Given the description of an element on the screen output the (x, y) to click on. 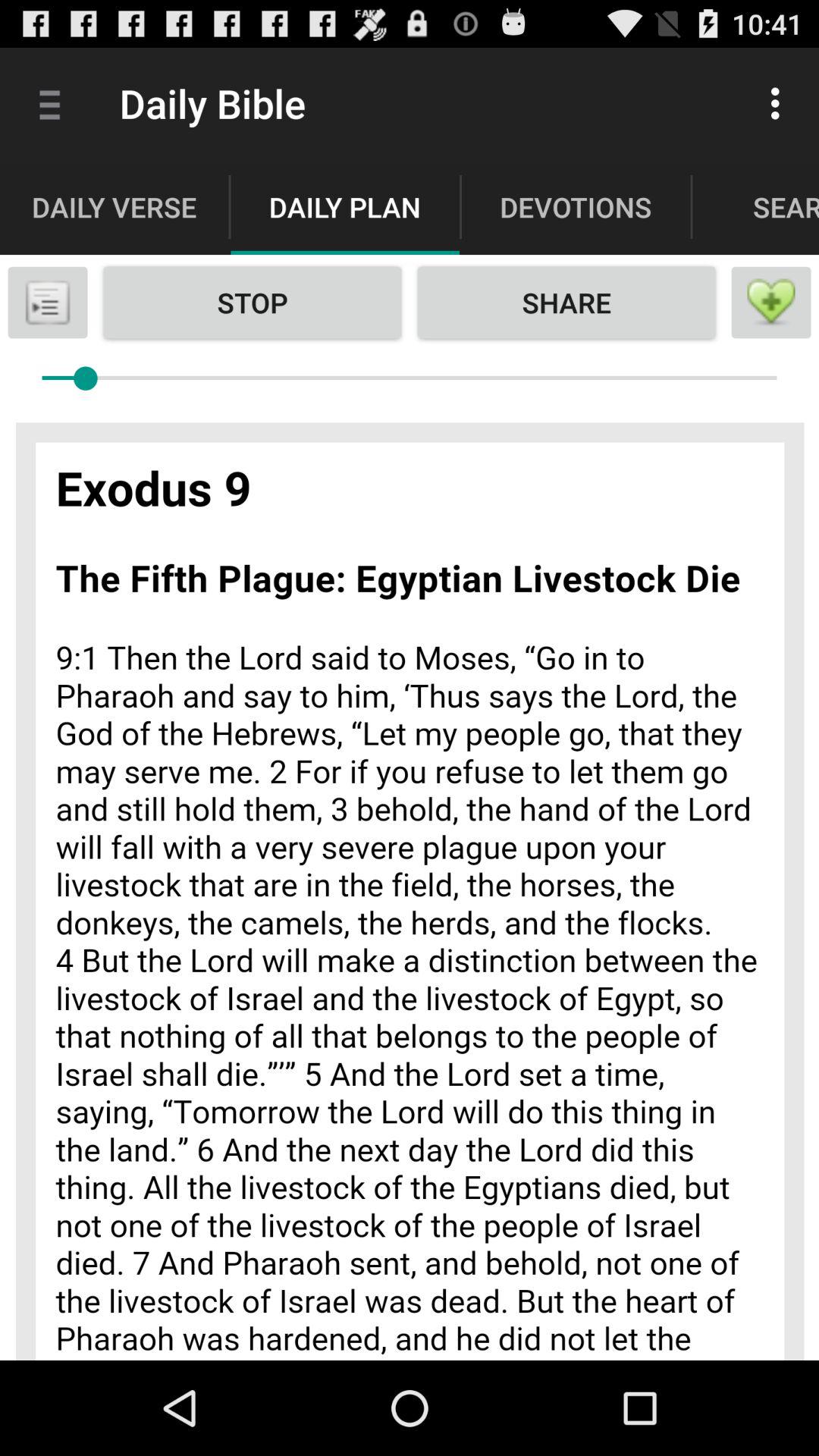
add to favorites (771, 302)
